Given the description of an element on the screen output the (x, y) to click on. 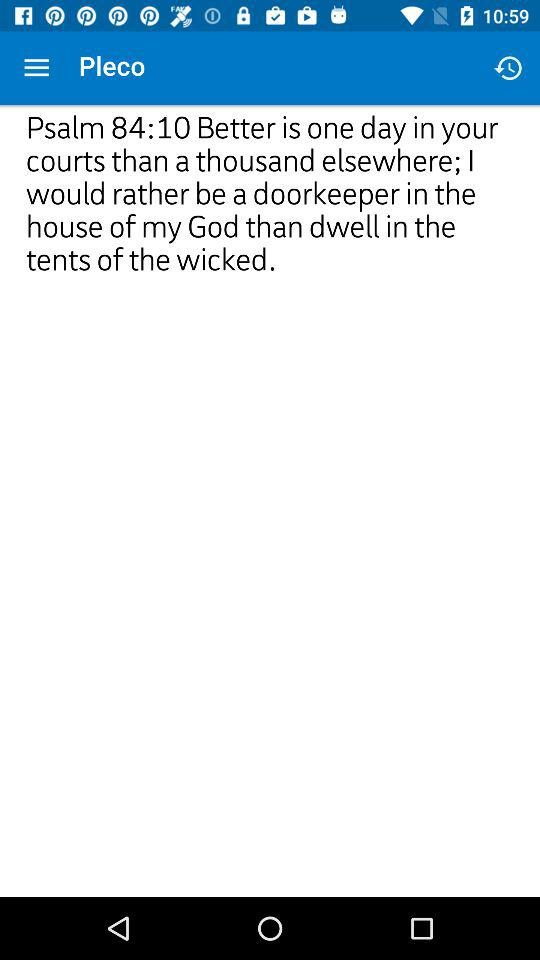
turn off the item next to pleco icon (508, 67)
